Given the description of an element on the screen output the (x, y) to click on. 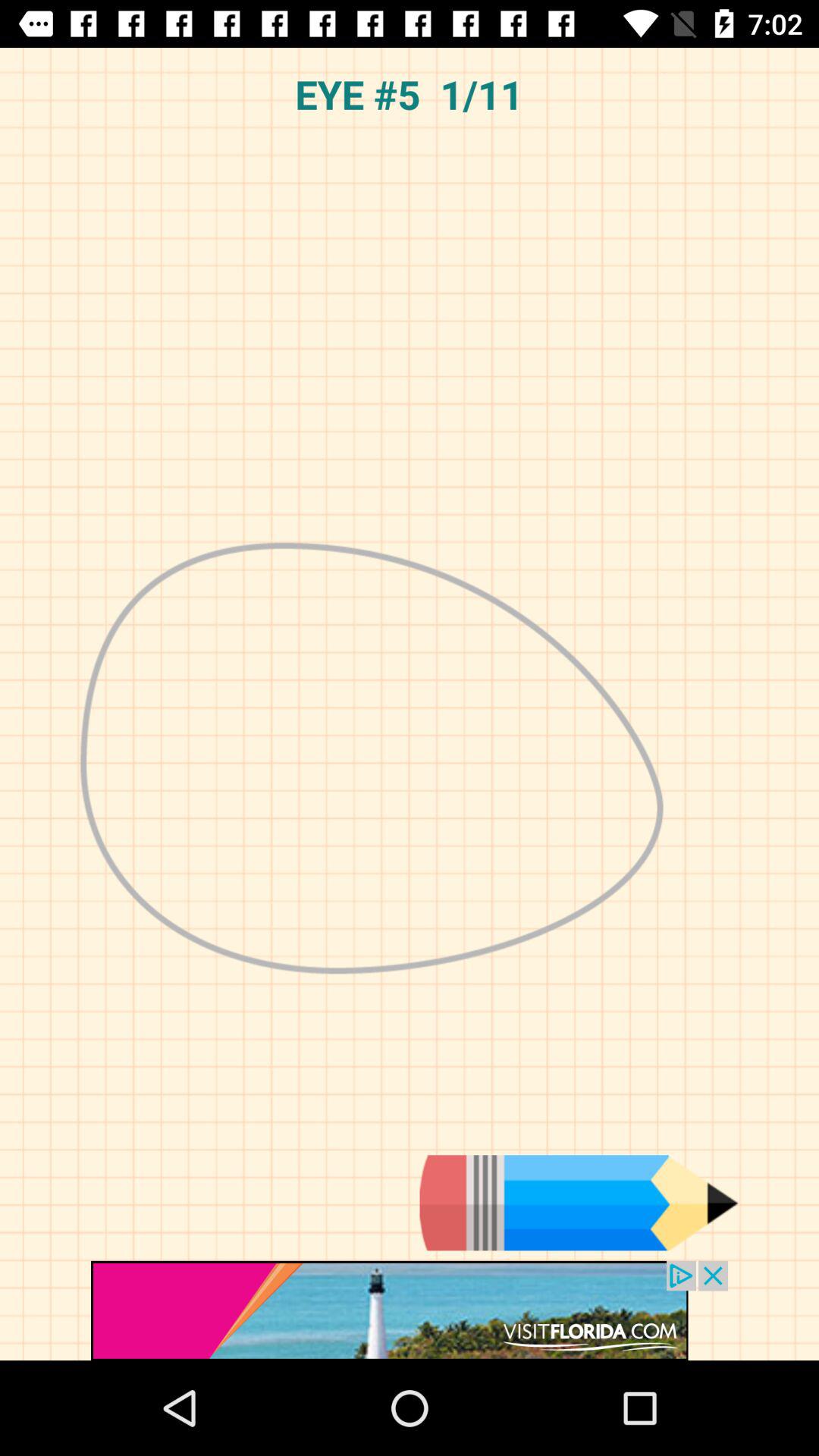
advertisement (409, 1310)
